Given the description of an element on the screen output the (x, y) to click on. 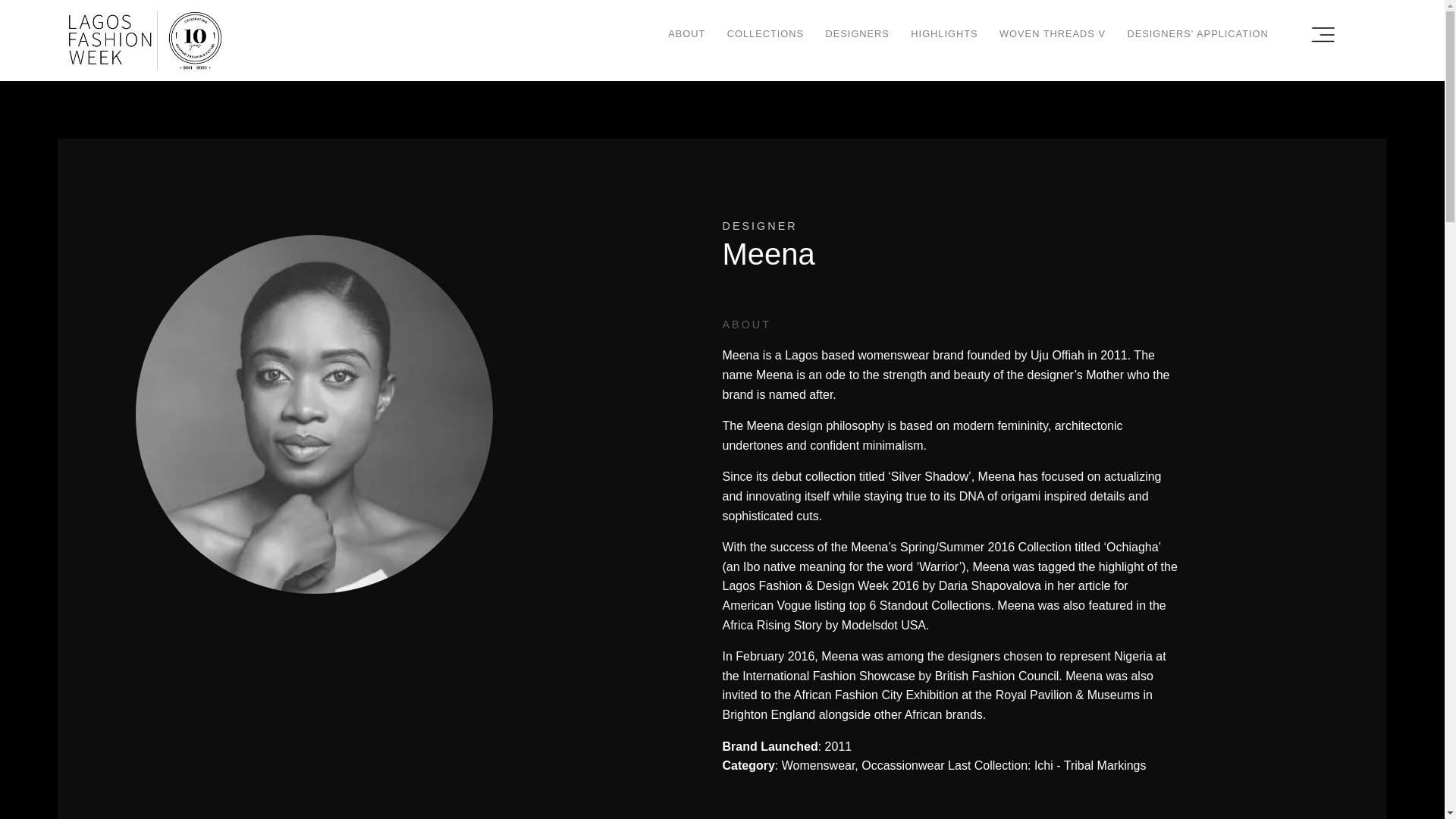
Lagos Fashion Week Home (144, 39)
COLLECTIONS (764, 33)
DESIGNERS' APPLICATION (1197, 33)
DESIGNER (759, 225)
WOVEN THREADS V (1051, 33)
DESIGNERS (857, 33)
designers (759, 225)
ABOUT (686, 33)
HIGHLIGHTS (943, 33)
